Given the description of an element on the screen output the (x, y) to click on. 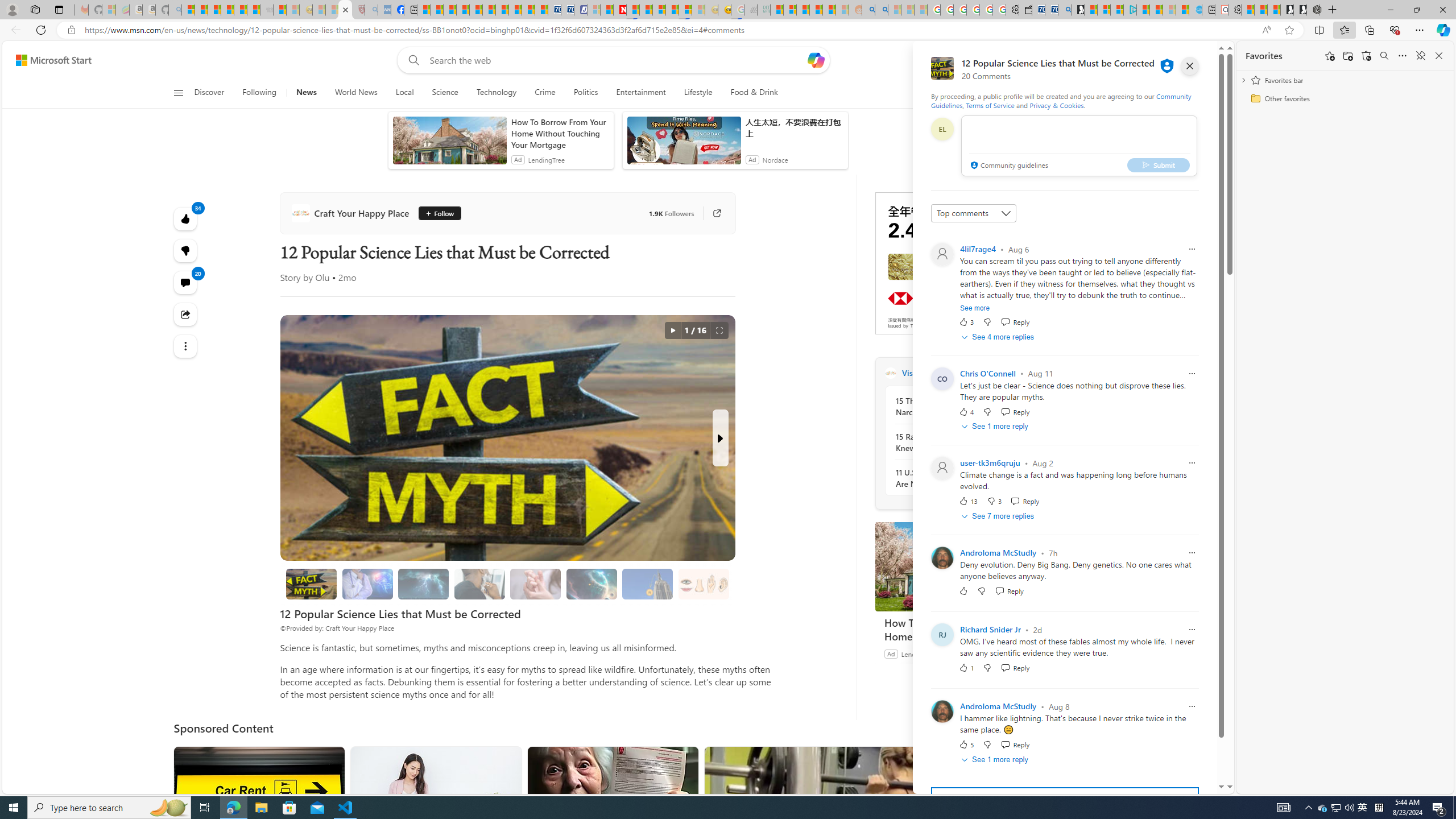
Profile Picture (941, 711)
Space Myths (591, 583)
Share this story (184, 314)
View comments 20 Comment (184, 282)
Submit (1157, 164)
Unpin favorites (1420, 55)
Human Senses (703, 583)
Craft Your Happy Place (352, 212)
